Given the description of an element on the screen output the (x, y) to click on. 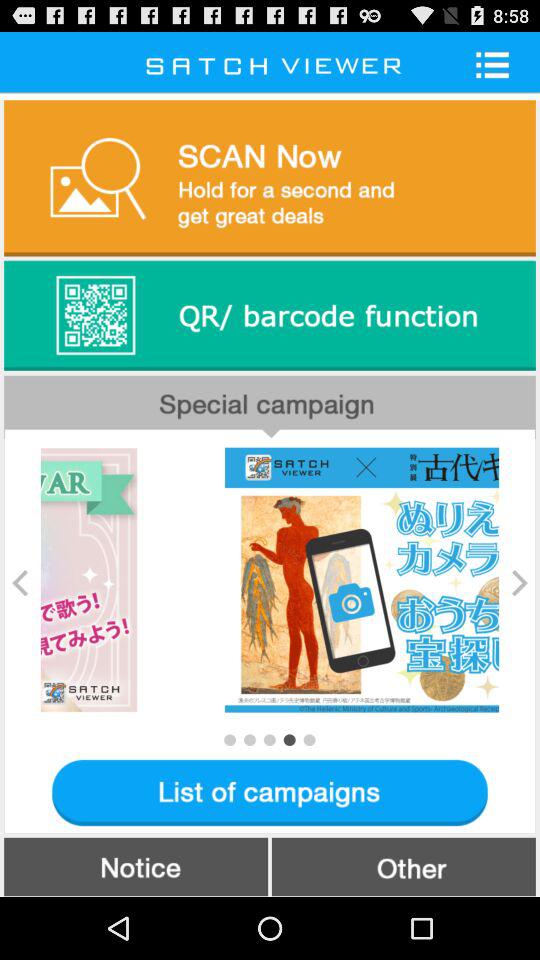
select the text on the top above the scan now (269, 64)
select next image item button below the image slideshow (310, 739)
click on other (404, 866)
go to scan now (269, 177)
click on special campaign (269, 406)
select the second next slide dot (249, 739)
select the 1st dot above the blue box (229, 739)
